Given the description of an element on the screen output the (x, y) to click on. 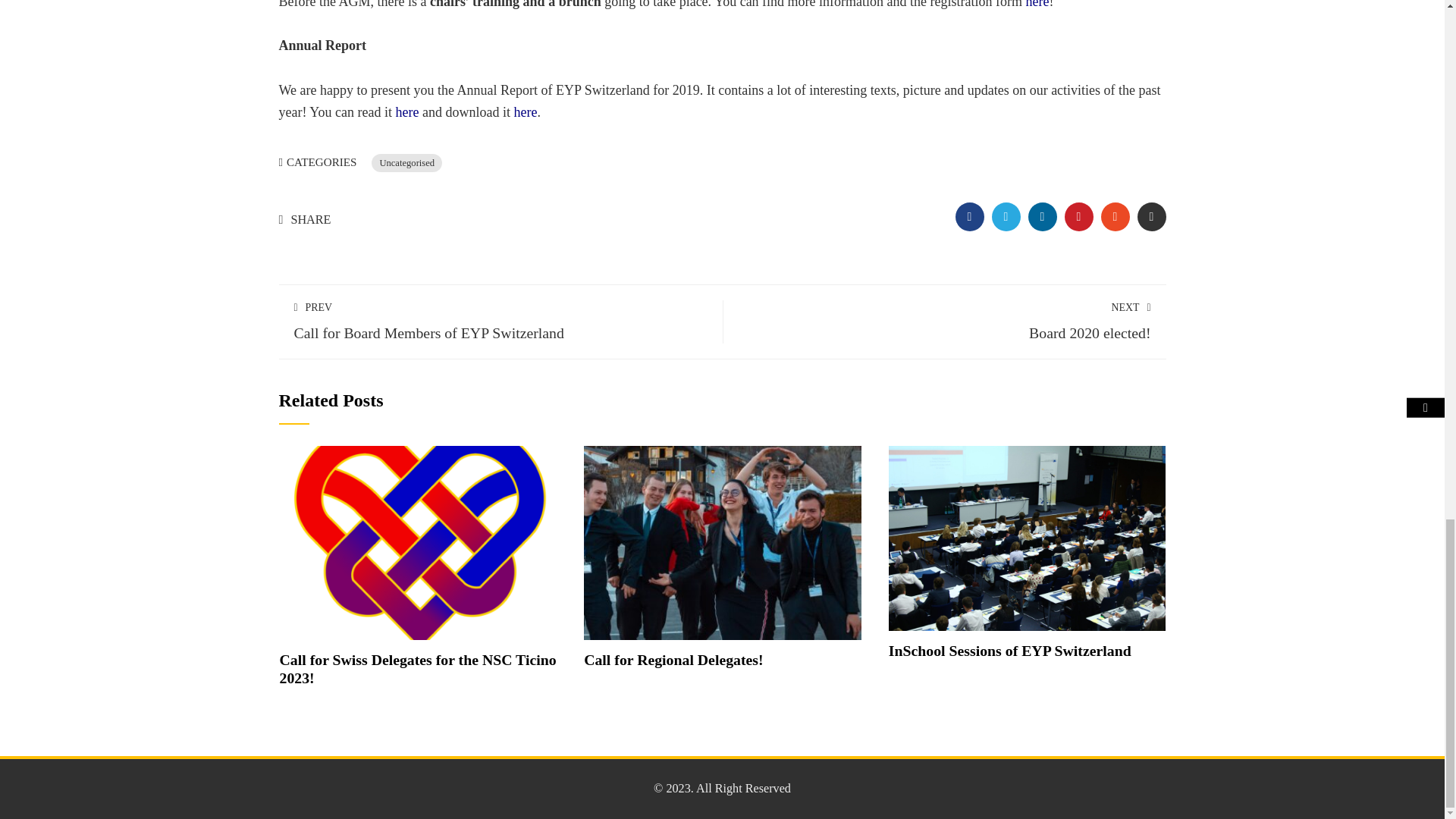
Call for Swiss Delegates for the NSC Ticino 2023! (418, 540)
InSchool Sessions of EYP Switzerland (1027, 536)
InSchool Sessions of EYP Switzerland (1009, 650)
Call for Swiss Delegates for the NSC Ticino 2023! (417, 668)
Call for Regional Delegates! (672, 659)
Call for Regional Delegates! (722, 540)
